Given the description of an element on the screen output the (x, y) to click on. 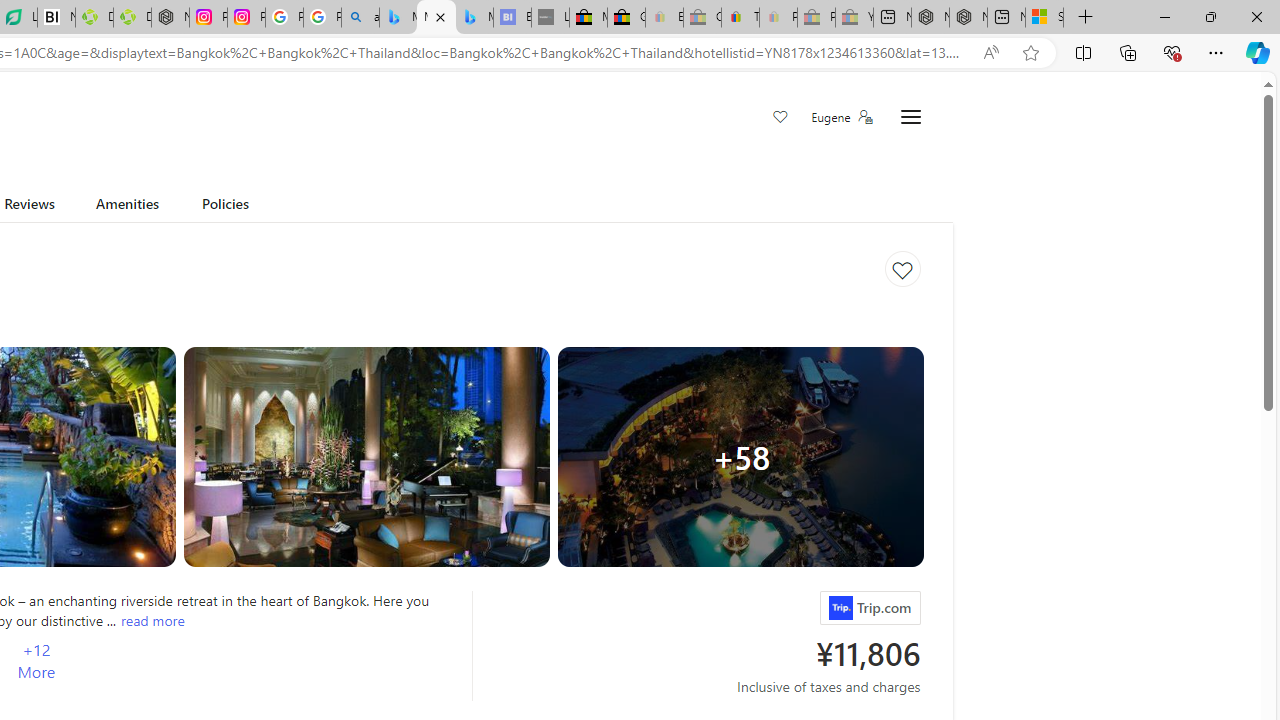
alabama high school quarterback dies - Search (359, 17)
Eugene (841, 117)
Threats and offensive language policy | eBay (740, 17)
Press Room - eBay Inc. - Sleeping (815, 17)
Payments Terms of Use | eBay.com - Sleeping (778, 17)
Nordace - Summer Adventures 2024 (967, 17)
Policies (225, 207)
